Given the description of an element on the screen output the (x, y) to click on. 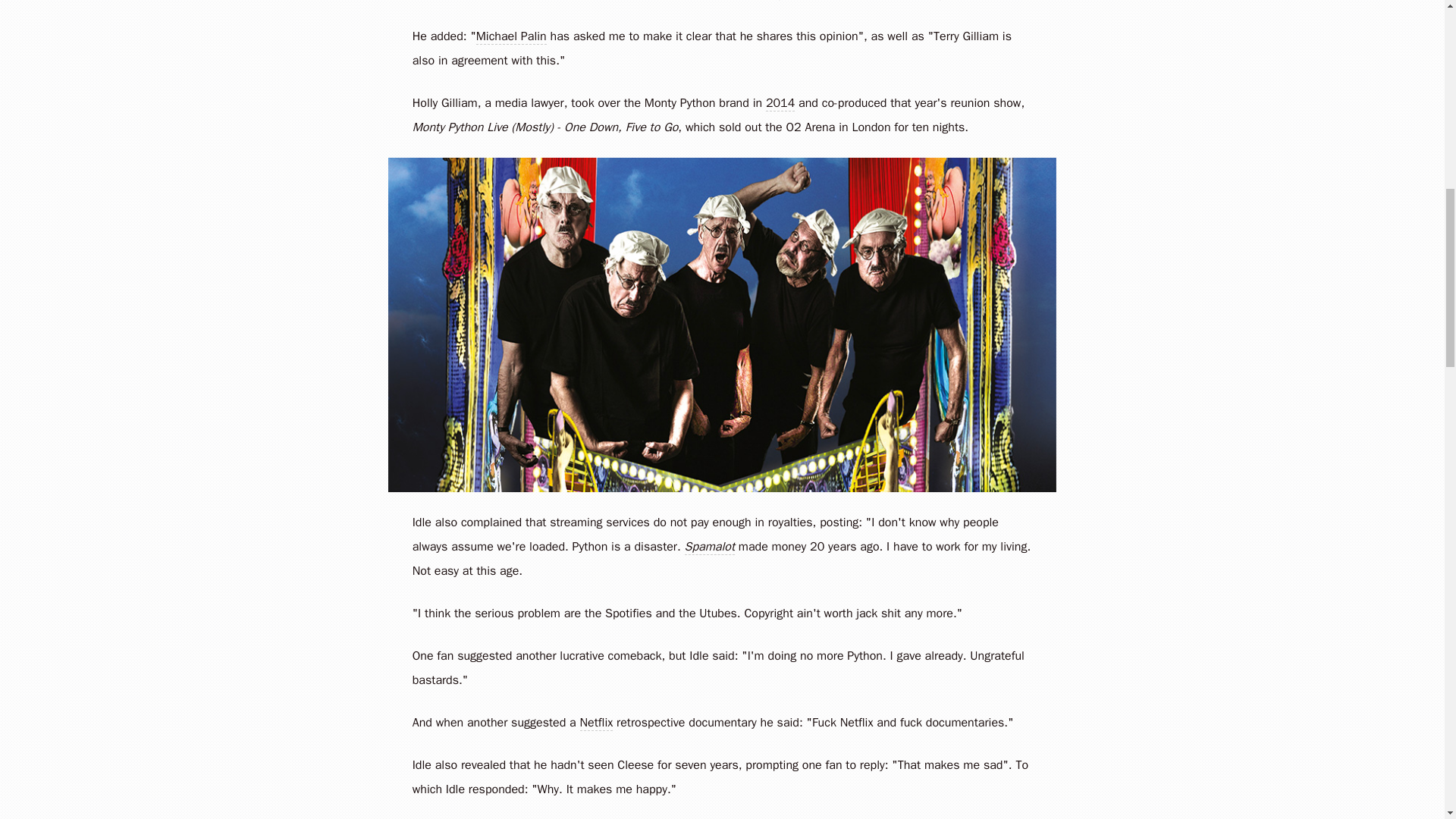
Netflix (856, 722)
Monty Python profile (680, 102)
Terry Gilliam (965, 36)
Monty Python (680, 102)
A guide to the year 2014 (779, 103)
Netflix (595, 722)
Terry Gilliam profile (965, 36)
Michael Palin profile (511, 36)
More details on this 2019 Edinburgh Fringe show (709, 546)
More details about Netflix (595, 722)
Spamalot (709, 546)
Holly Gilliam profile (444, 102)
Michael Palin (511, 36)
More details about Netflix (856, 722)
Holly Gilliam (444, 102)
